Given the description of an element on the screen output the (x, y) to click on. 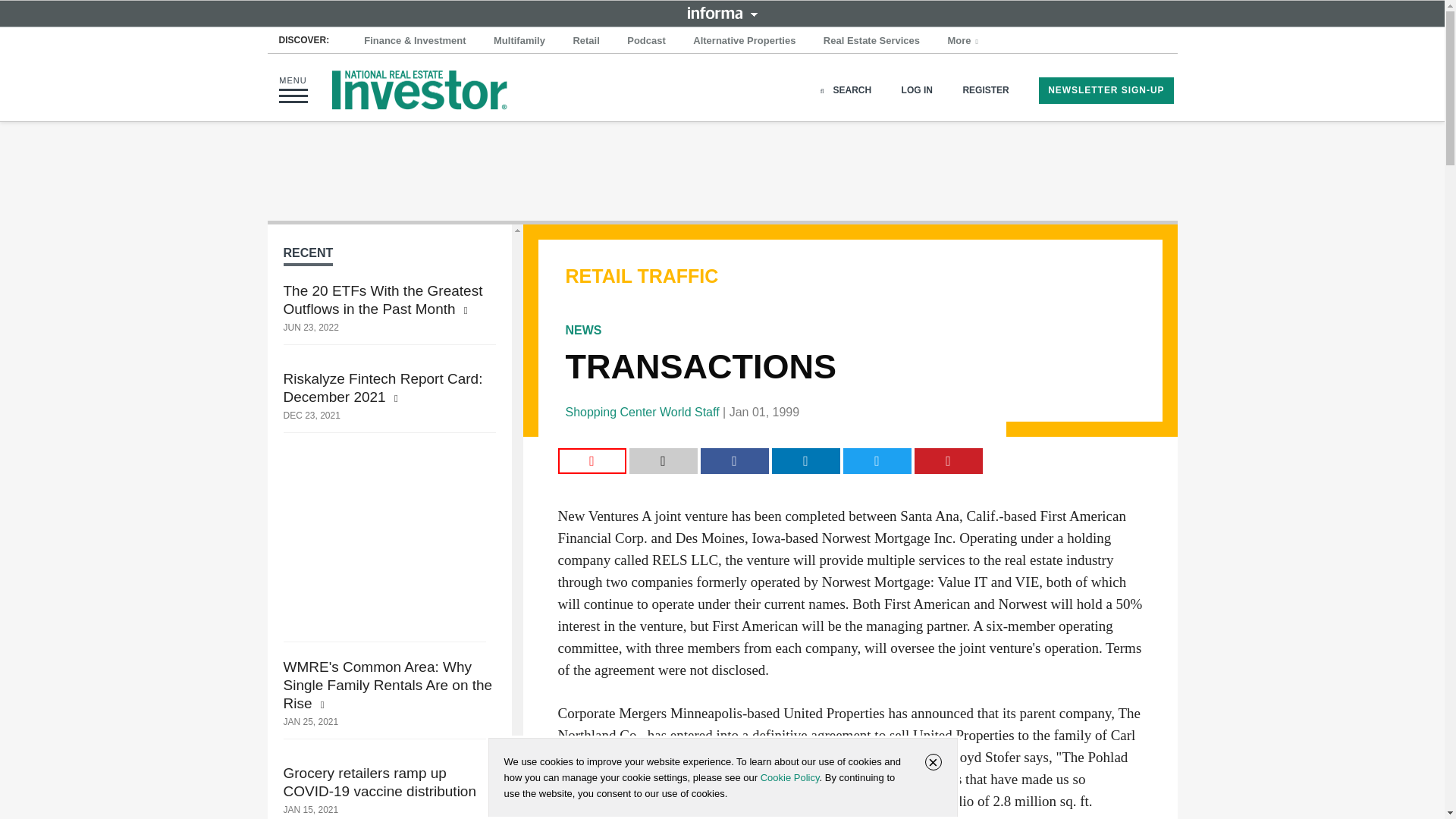
Cookie Policy (789, 777)
More (964, 41)
Real Estate Services (871, 41)
Retail (585, 41)
Alternative Properties (744, 41)
Multifamily (519, 41)
INFORMA (722, 12)
Podcast (646, 41)
